Given the description of an element on the screen output the (x, y) to click on. 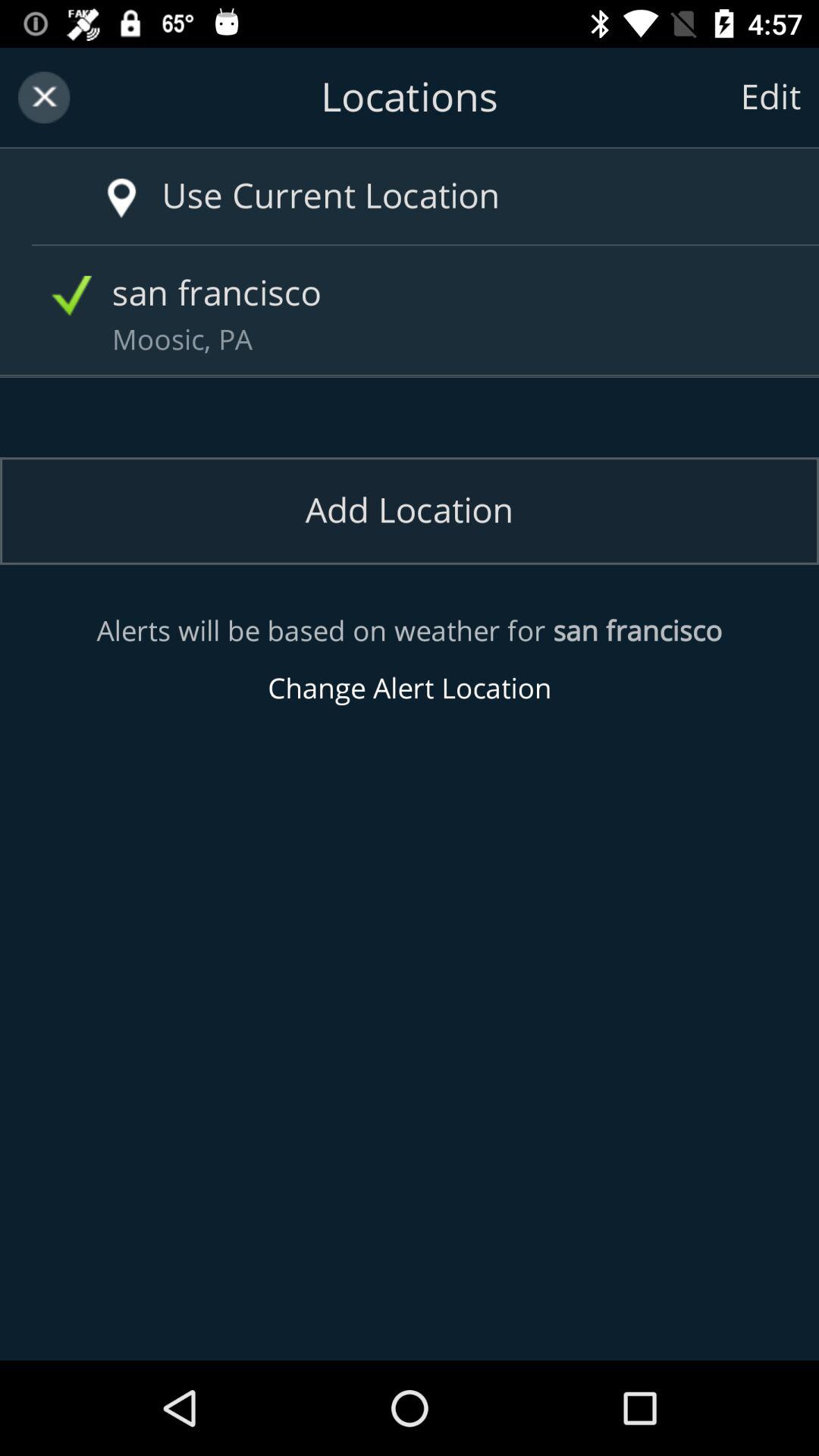
current location (99, 182)
